Given the description of an element on the screen output the (x, y) to click on. 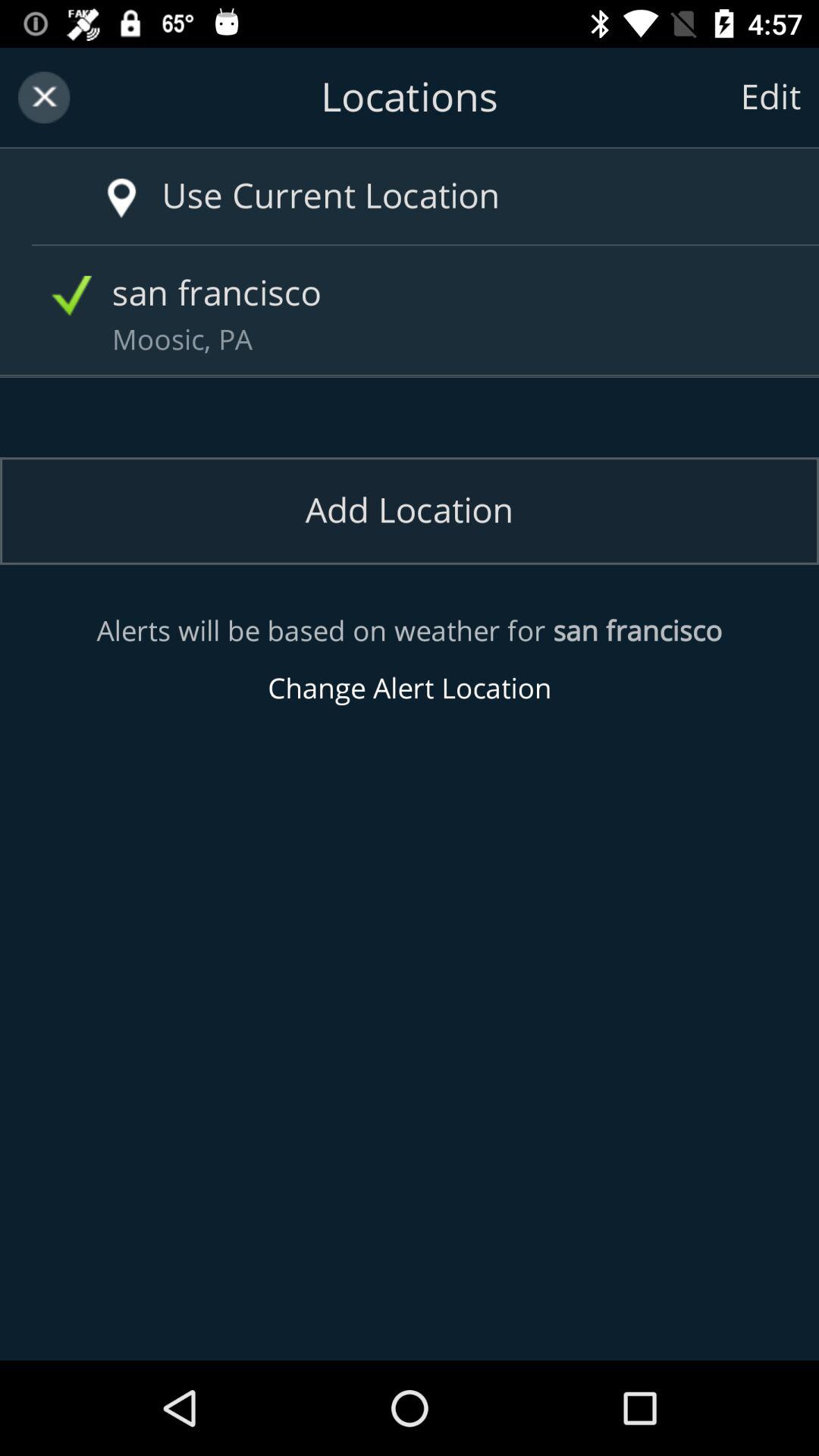
current location (99, 182)
